Given the description of an element on the screen output the (x, y) to click on. 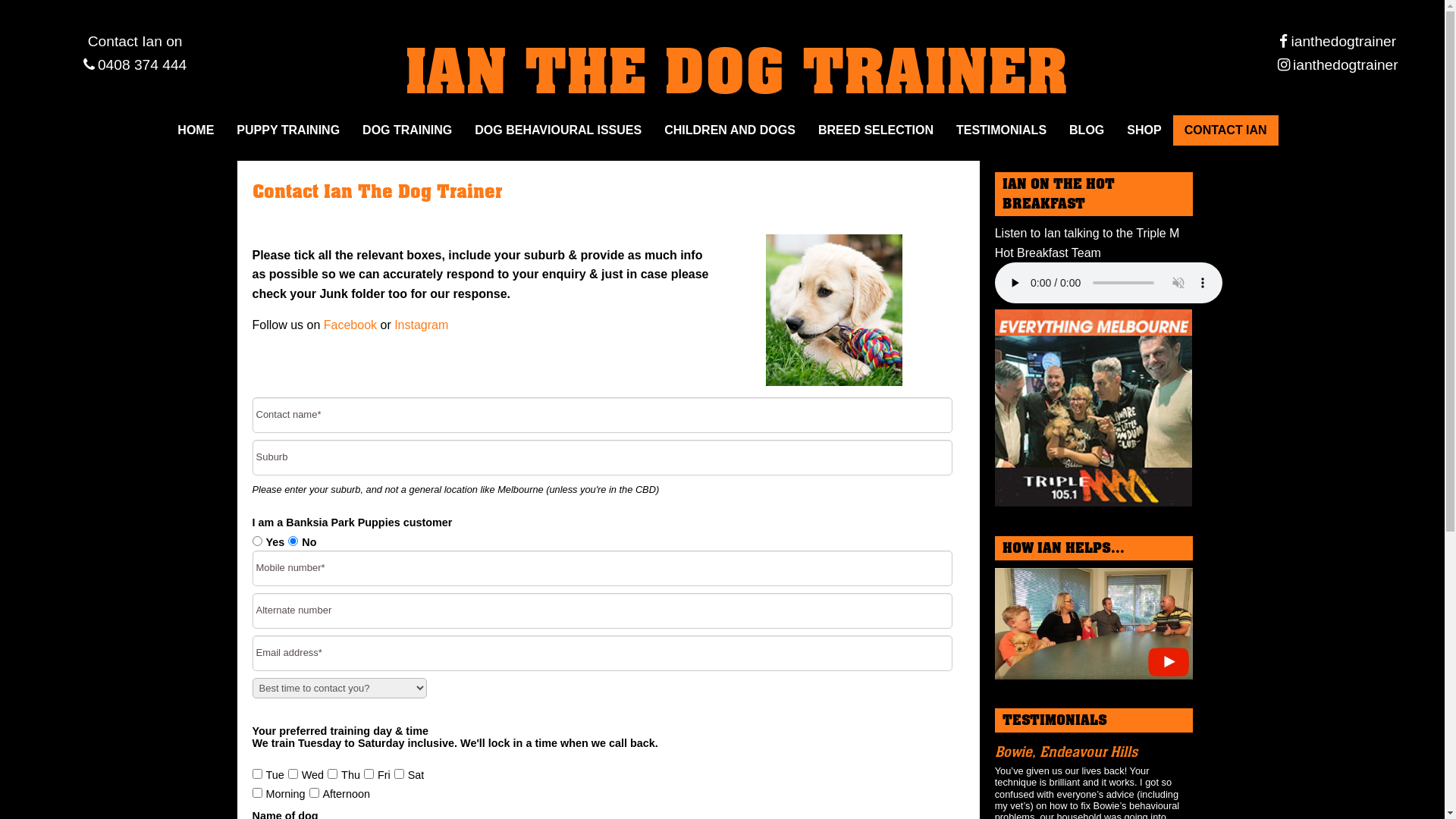
Contact Ian Element type: text (124, 41)
TESTIMONIALS Element type: text (1000, 130)
BREED SELECTION Element type: text (875, 130)
ianthedogtrainer Element type: text (1337, 41)
CHILDREN AND DOGS Element type: text (729, 130)
CONTACT IAN Element type: text (1225, 130)
DOG BEHAVIOURAL ISSUES Element type: text (557, 130)
Facebook Element type: text (349, 324)
ianthedogtrainer Element type: text (1337, 64)
HOME Element type: text (195, 130)
PUPPY TRAINING Element type: text (288, 130)
0408 374 444 Element type: text (134, 64)
BLOG Element type: text (1086, 130)
SHOP Element type: text (1143, 130)
Instagram Element type: text (421, 324)
DOG TRAINING Element type: text (407, 130)
